Given the description of an element on the screen output the (x, y) to click on. 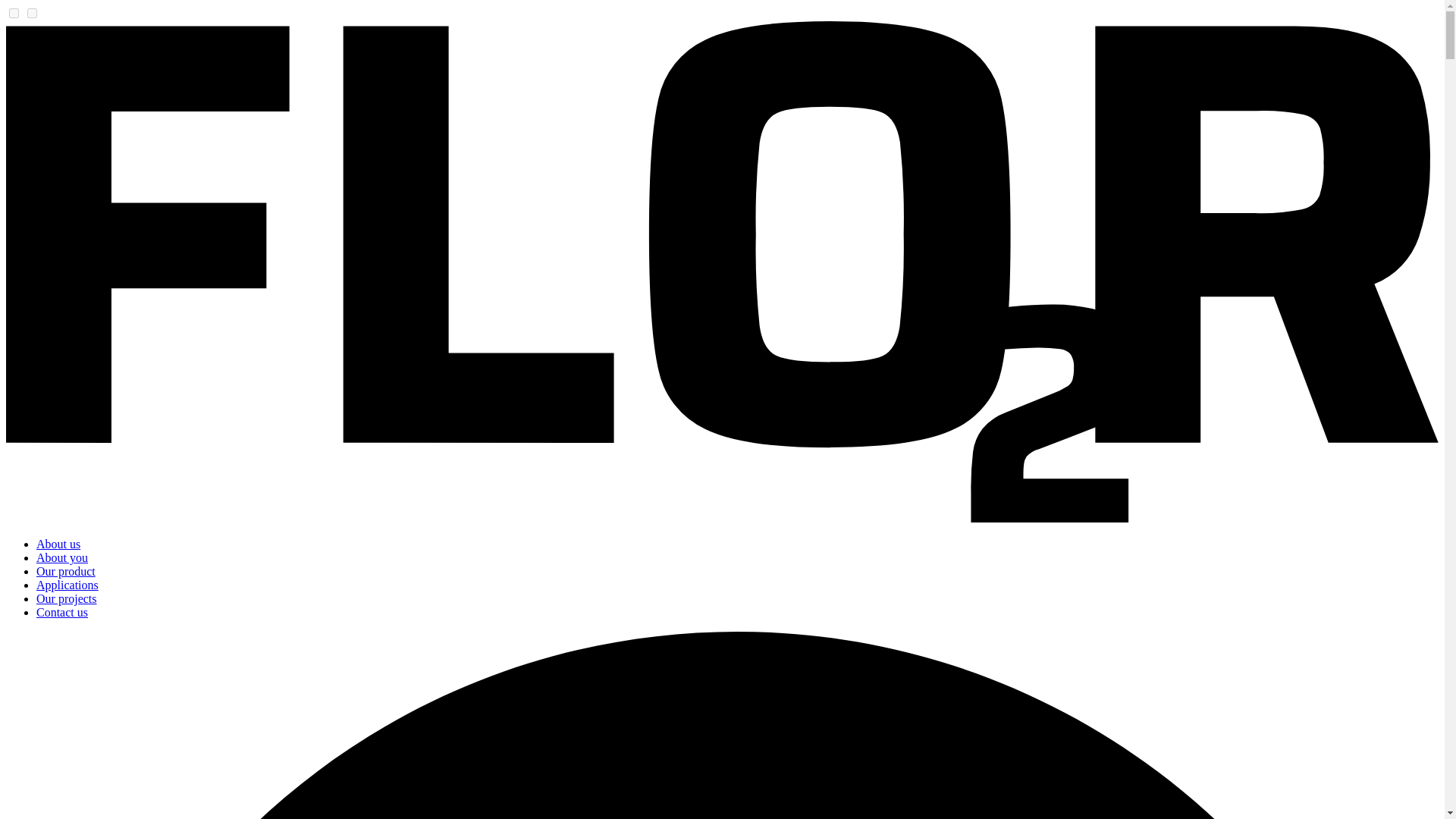
Contact us (61, 612)
Applications (67, 584)
Our product (66, 571)
About you (61, 557)
About us (58, 543)
on (32, 13)
on (13, 13)
Our projects (66, 598)
